Given the description of an element on the screen output the (x, y) to click on. 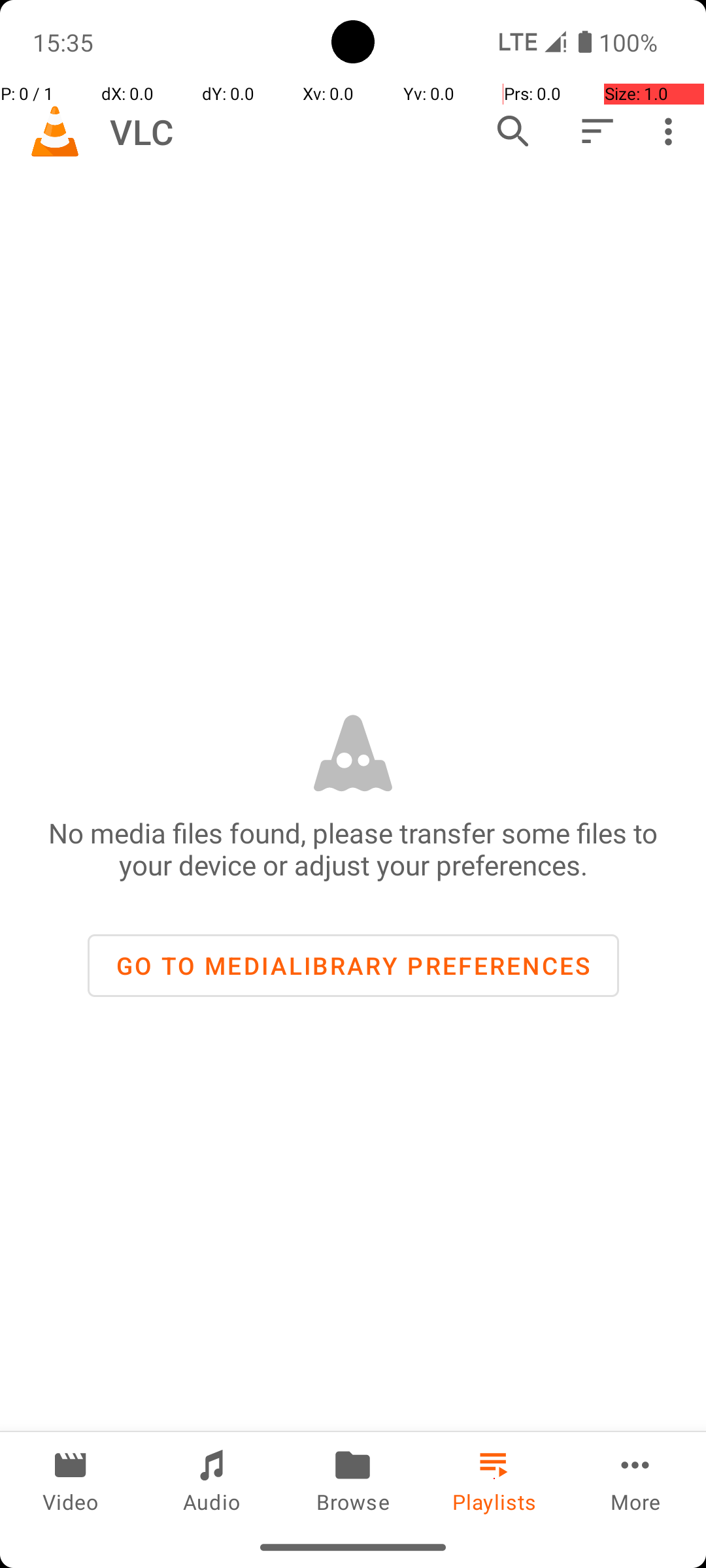
GO TO MEDIALIBRARY PREFERENCES Element type: android.widget.Button (353, 965)
